Given the description of an element on the screen output the (x, y) to click on. 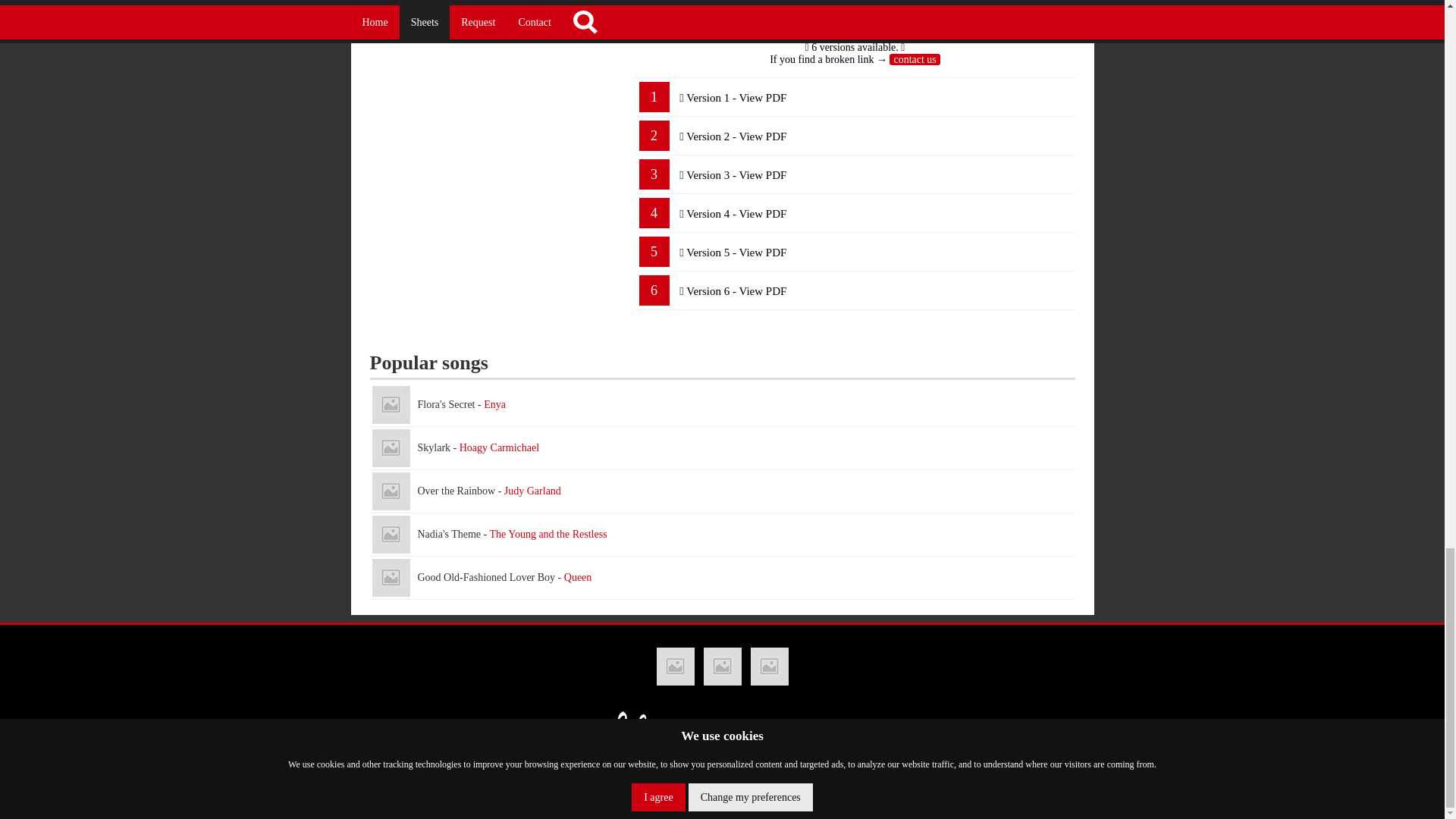
Skylark - Hoagy Carmichael (722, 448)
contact us (914, 59)
Flora's Secret - Enya (722, 405)
Good Old-Fashioned Lover Boy - Queen (722, 577)
Over the Rainbow - Judy Garland (722, 491)
BossPianoSheets.com on Pinterest (770, 666)
Skylark - Hoagy Carmichael (390, 447)
Nadia's Theme - The Young and the Restless (722, 534)
Over the Rainbow - Judy Garland (390, 491)
BossPianoSheets.com on Twitter (722, 666)
